Given the description of an element on the screen output the (x, y) to click on. 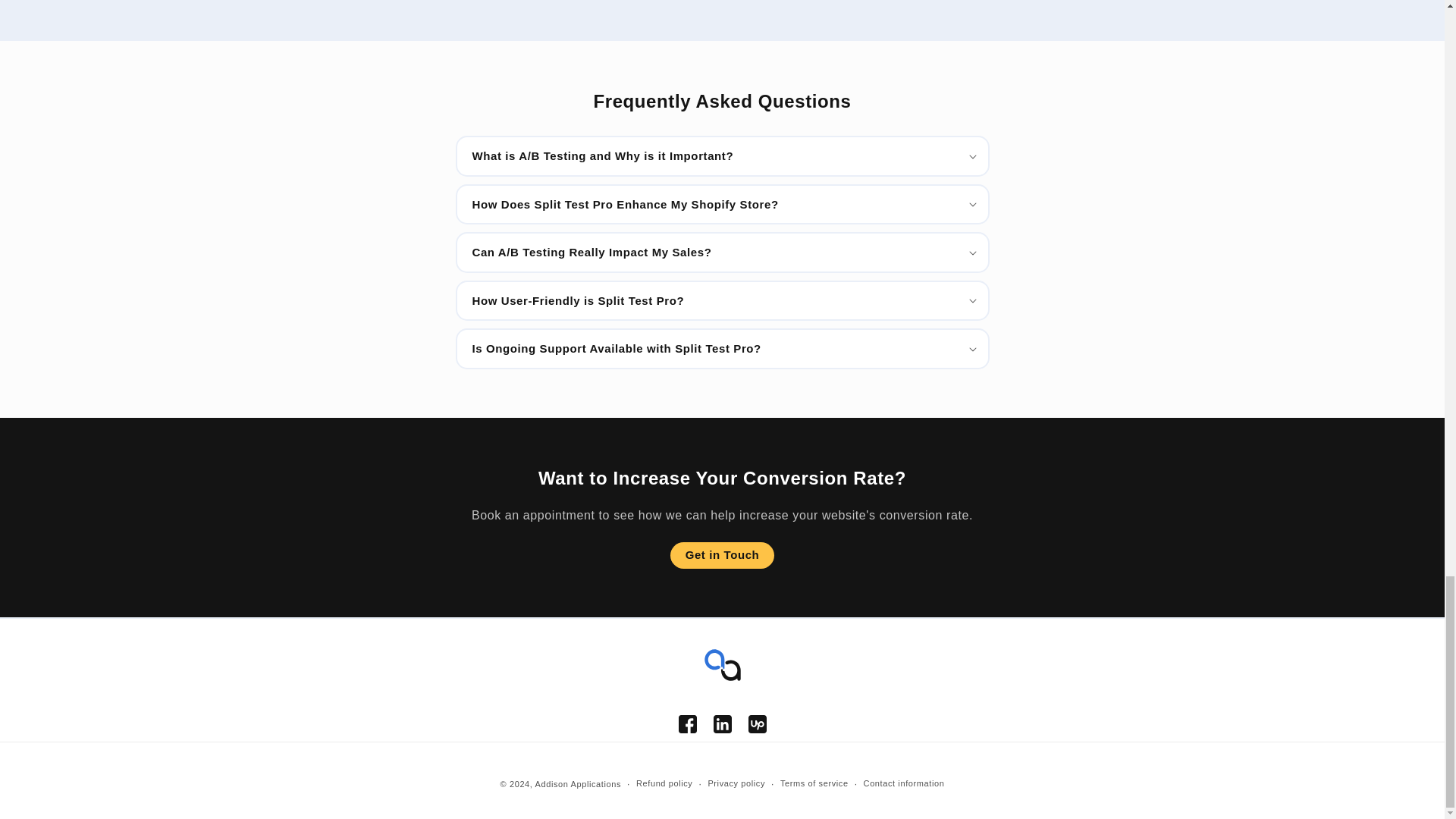
Refund policy (664, 783)
Facebook (686, 724)
Contact information (903, 783)
Get in Touch (721, 555)
Privacy policy (736, 783)
Terms of service (814, 783)
Linkedin (721, 724)
Addison Applications (578, 783)
UpWork (756, 724)
